Given the description of an element on the screen output the (x, y) to click on. 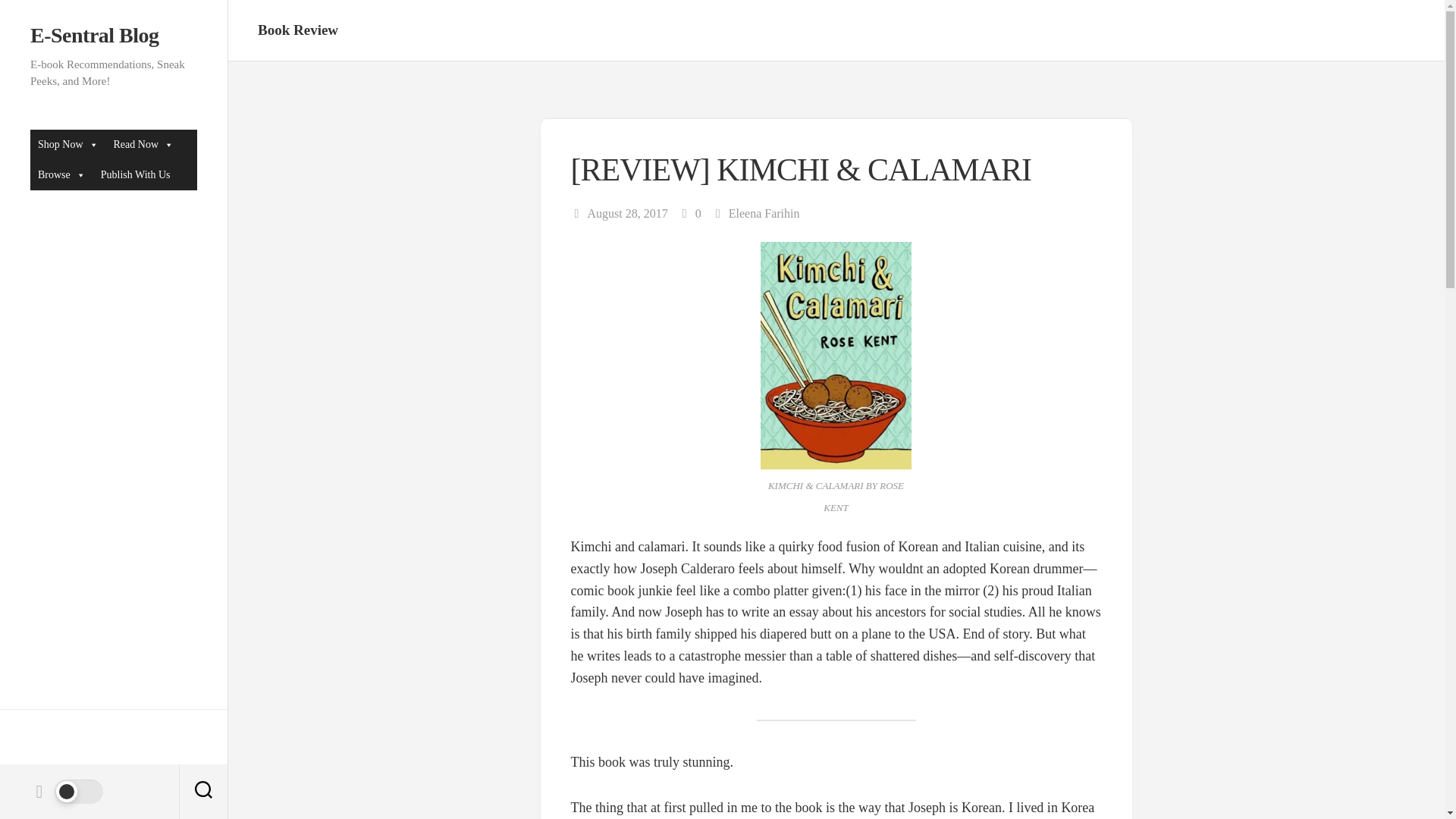
Read Now (144, 144)
Shop Now (68, 144)
E-Sentral Blog (113, 35)
Browse (61, 174)
Publish With Us (135, 174)
